Given the description of an element on the screen output the (x, y) to click on. 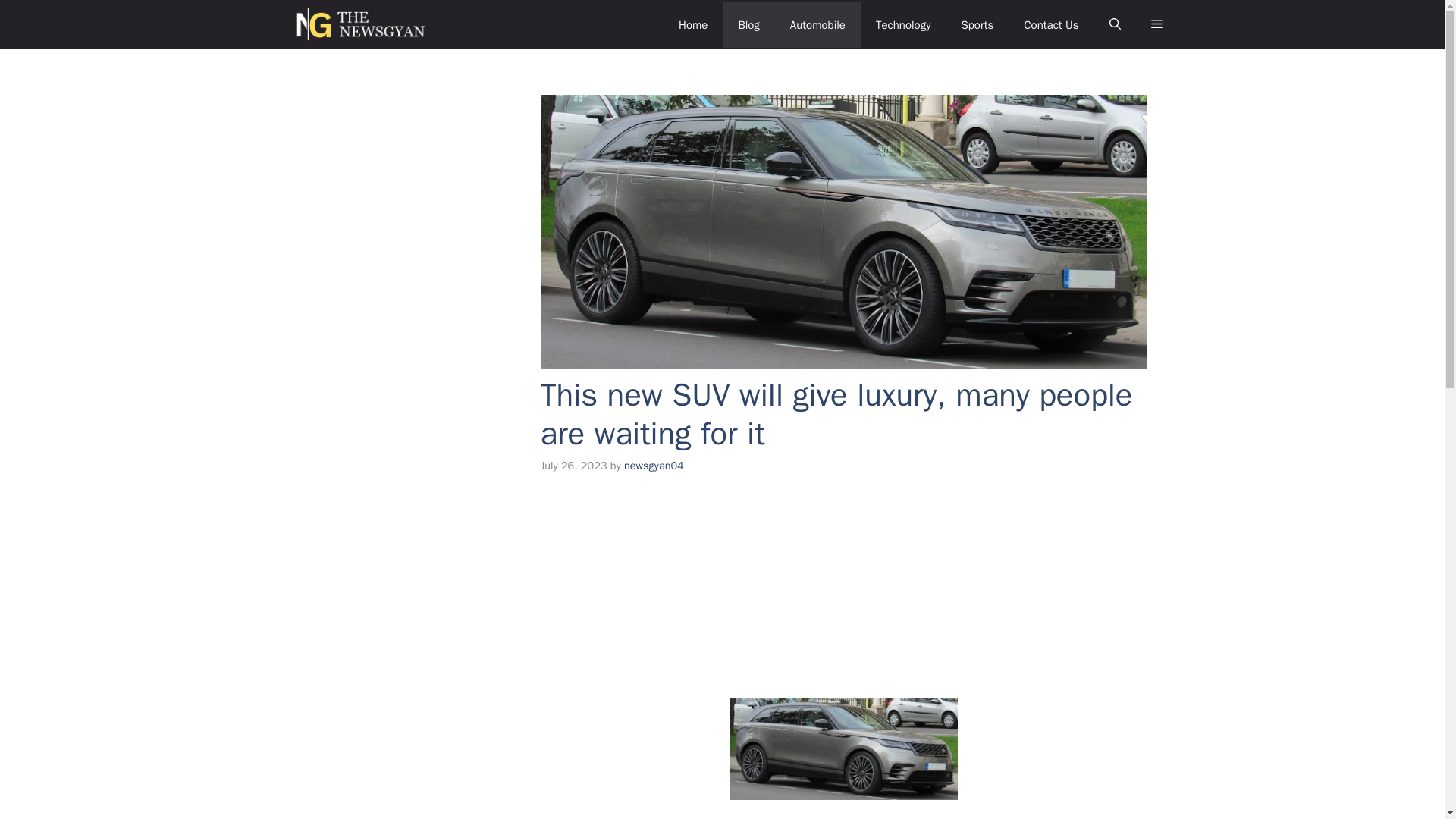
Automobile (817, 23)
Contact Us (1051, 23)
The Newsgyan (352, 24)
View all posts by newsgyan04 (654, 465)
Technology (903, 23)
Sports (976, 23)
Advertisement (845, 575)
Blog (748, 23)
newsgyan04 (654, 465)
Home (692, 23)
